Given the description of an element on the screen output the (x, y) to click on. 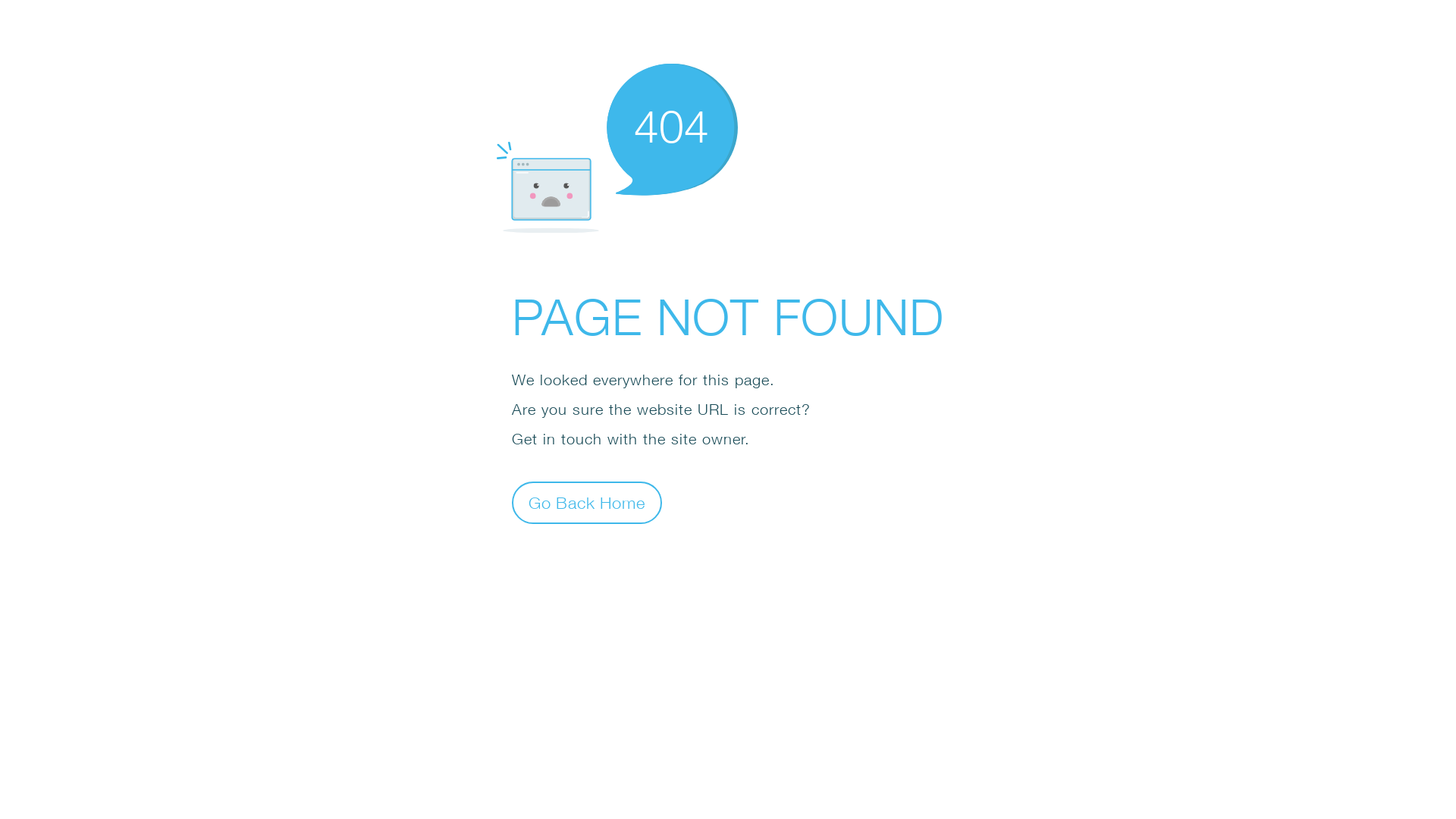
Go Back Home Element type: text (586, 502)
